Given the description of an element on the screen output the (x, y) to click on. 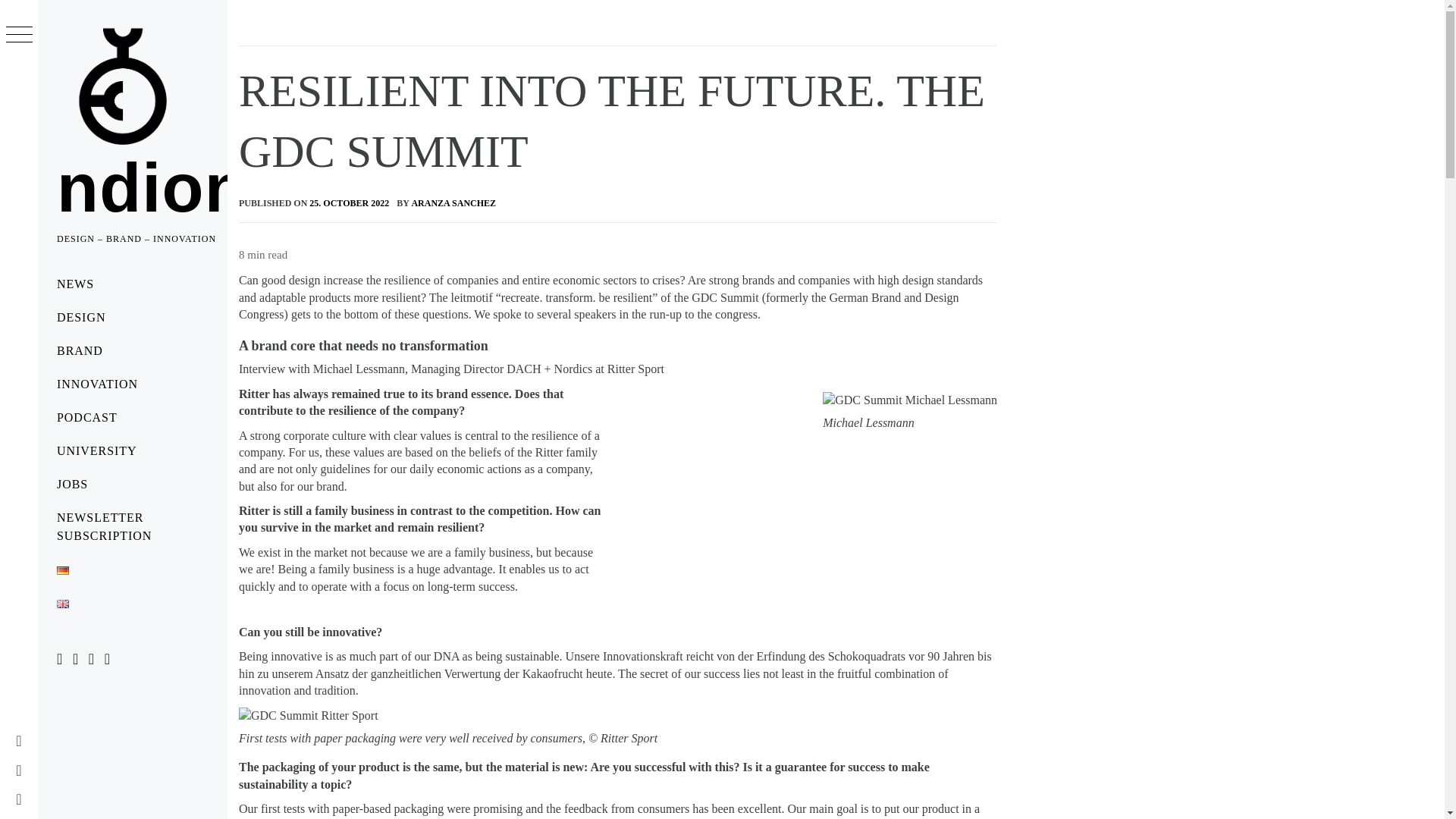
Search (646, 37)
INNOVATION (132, 384)
ndion (151, 187)
DESIGN (132, 317)
25. OCTOBER 2022 (348, 203)
NEWSLETTER SUBSCRIPTION (132, 526)
UNIVERSITY (132, 450)
PODCAST (132, 417)
JOBS (132, 484)
BRAND (132, 350)
ARANZA SANCHEZ (453, 203)
NEWS (132, 284)
